Given the description of an element on the screen output the (x, y) to click on. 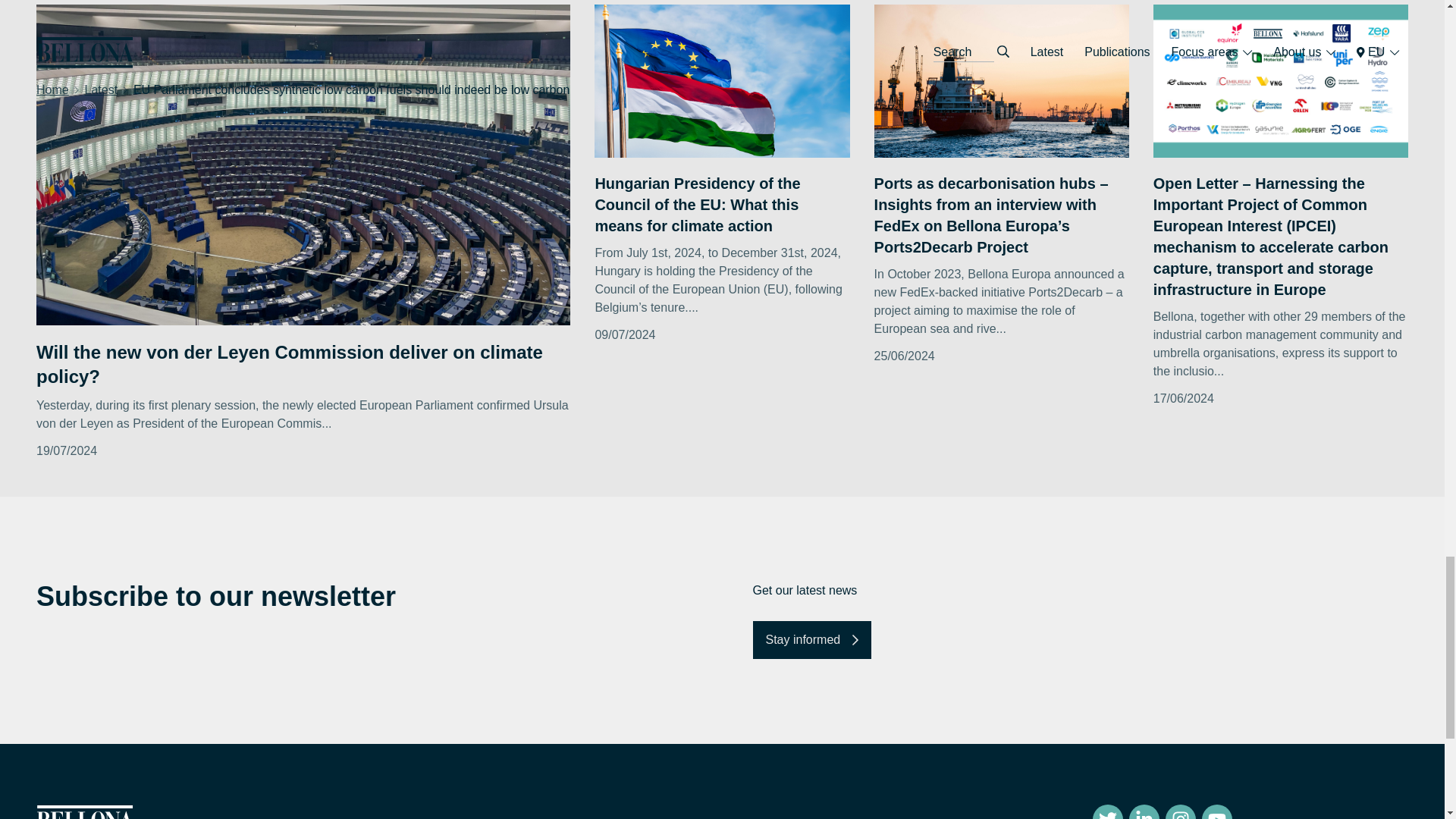
twitter (1107, 811)
instagram (1180, 811)
linkedin (1143, 811)
youtube (1216, 811)
